Given the description of an element on the screen output the (x, y) to click on. 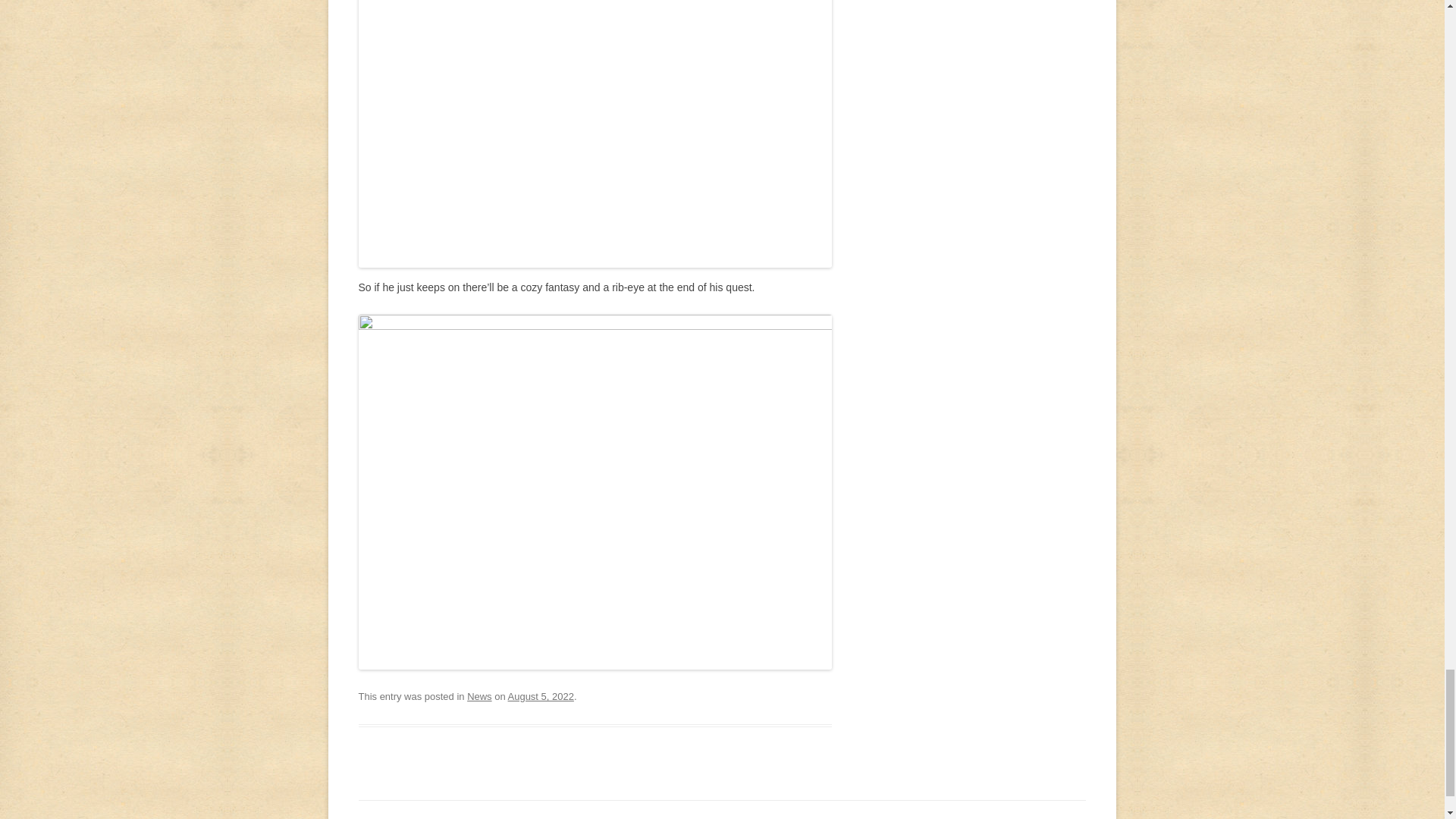
News (479, 696)
August 5, 2022 (540, 696)
5:27 pm (540, 696)
